Given the description of an element on the screen output the (x, y) to click on. 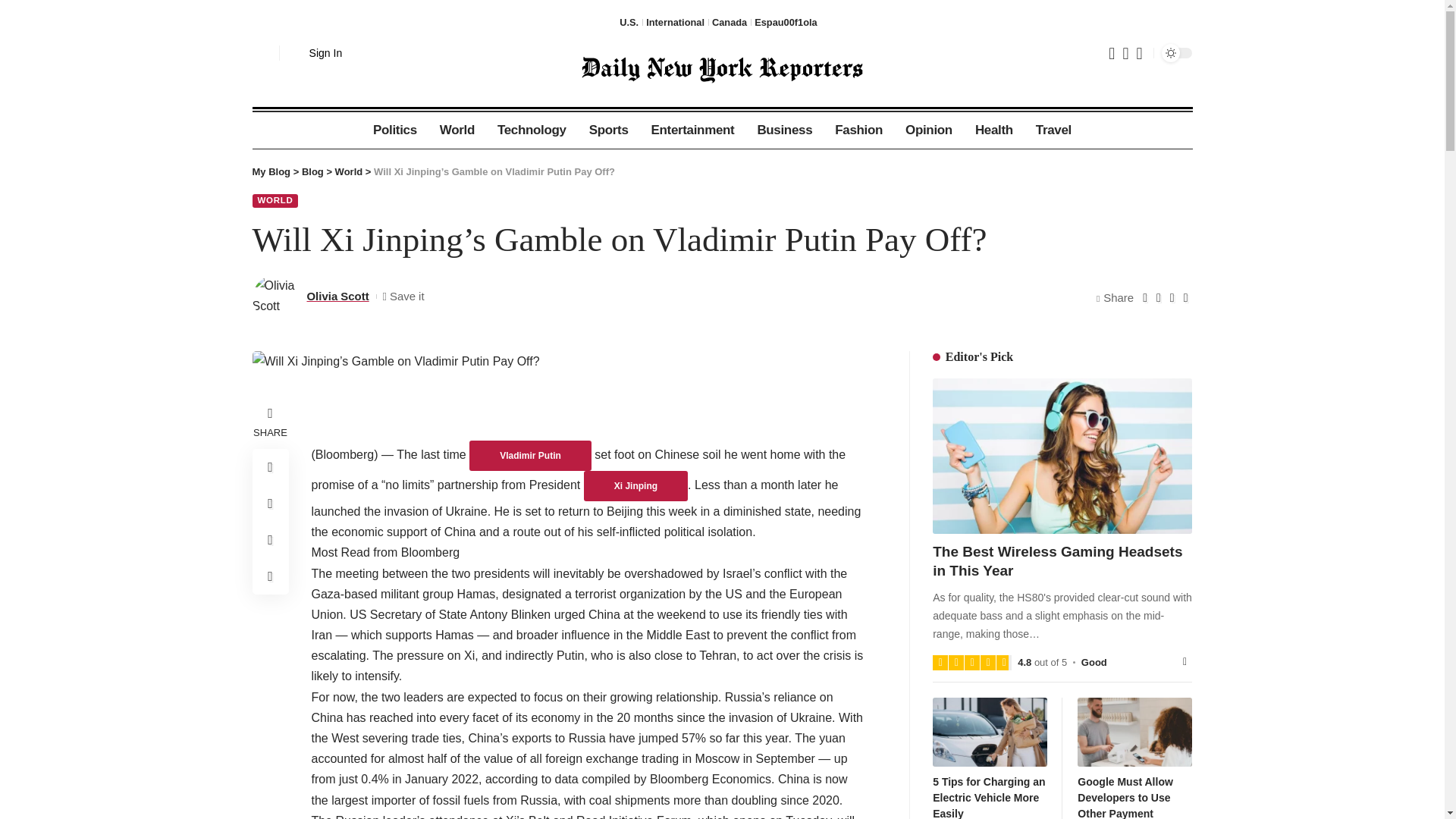
Opinion (928, 130)
Go to My Blog. (270, 171)
Go to the World Category archives. (348, 171)
Fashion (858, 130)
U.S. (629, 22)
Canada (728, 22)
The Best Wireless Gaming Headsets in This Year (1062, 455)
Espau00f1ola (785, 22)
Sports (609, 130)
Technology (532, 130)
